Given the description of an element on the screen output the (x, y) to click on. 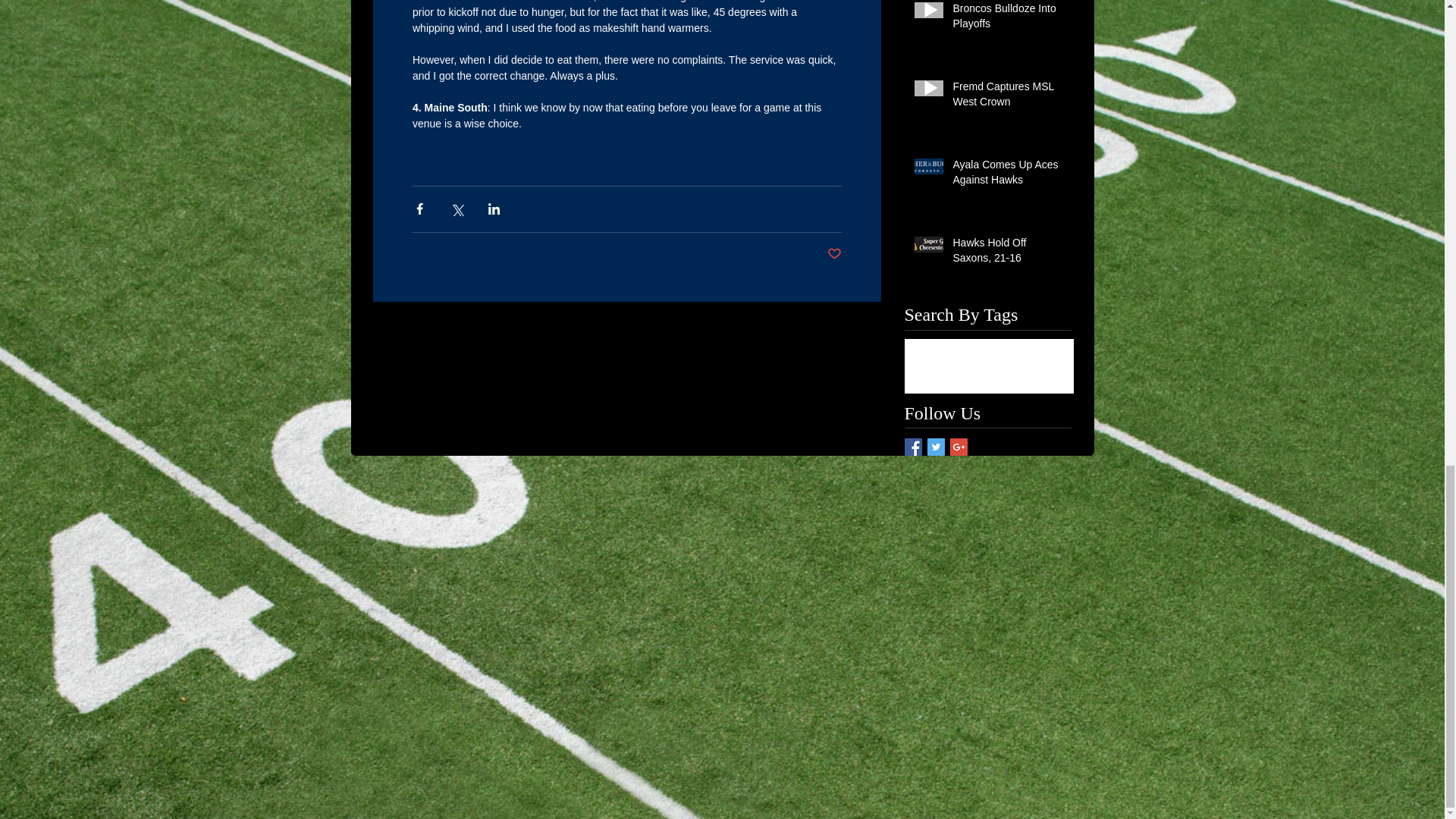
Ayala Comes Up Aces Against Hawks (1006, 175)
Broncos Bulldoze Into Playoffs (1006, 18)
Post not marked as liked (834, 254)
Hawks Hold Off Saxons, 21-16 (1006, 253)
Fremd Captures MSL West Crown (1006, 97)
